Given the description of an element on the screen output the (x, y) to click on. 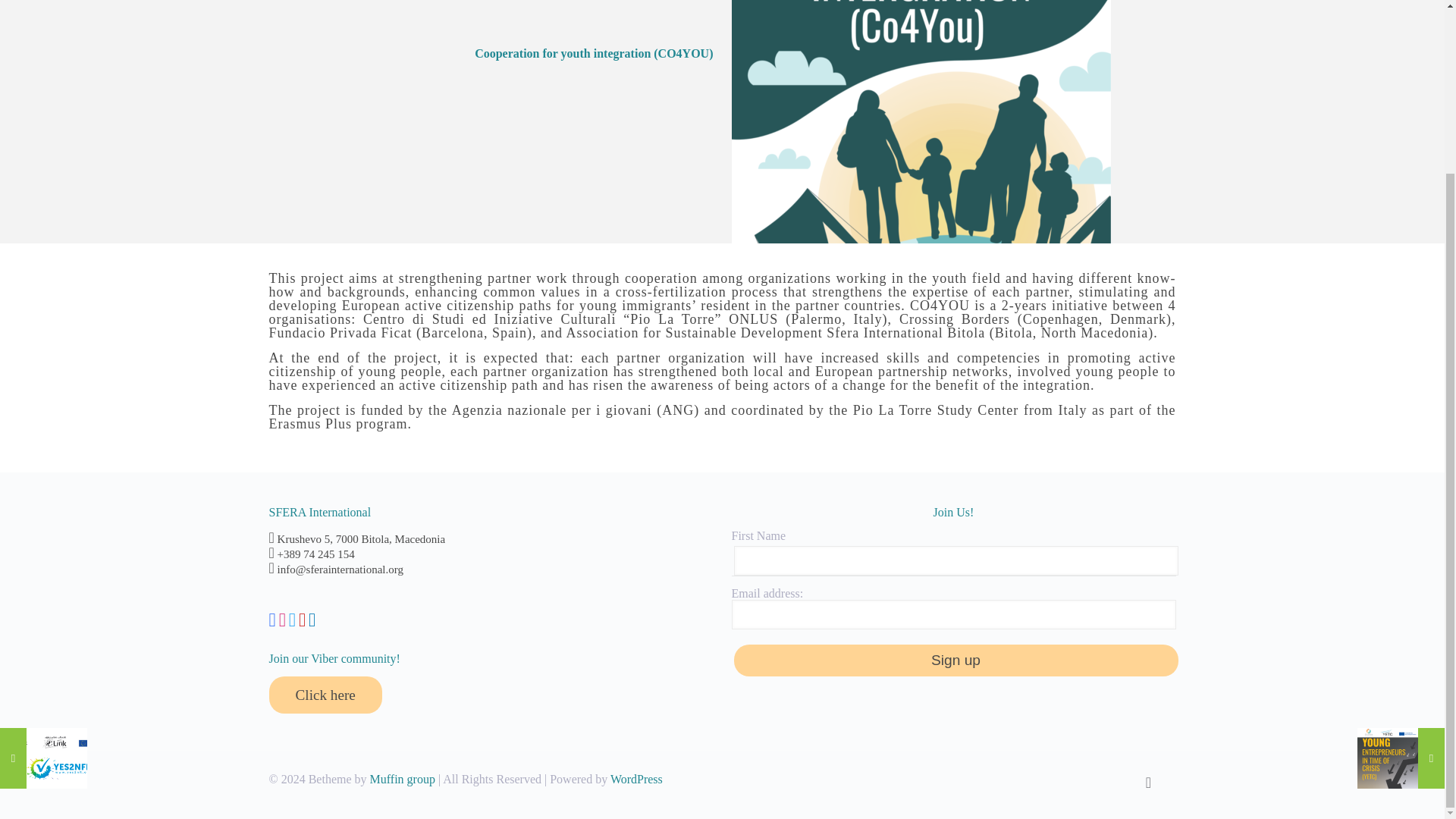
Sign up (955, 660)
Muffin group (402, 779)
Click here (324, 694)
Sign up (955, 660)
WordPress (636, 779)
